Given the description of an element on the screen output the (x, y) to click on. 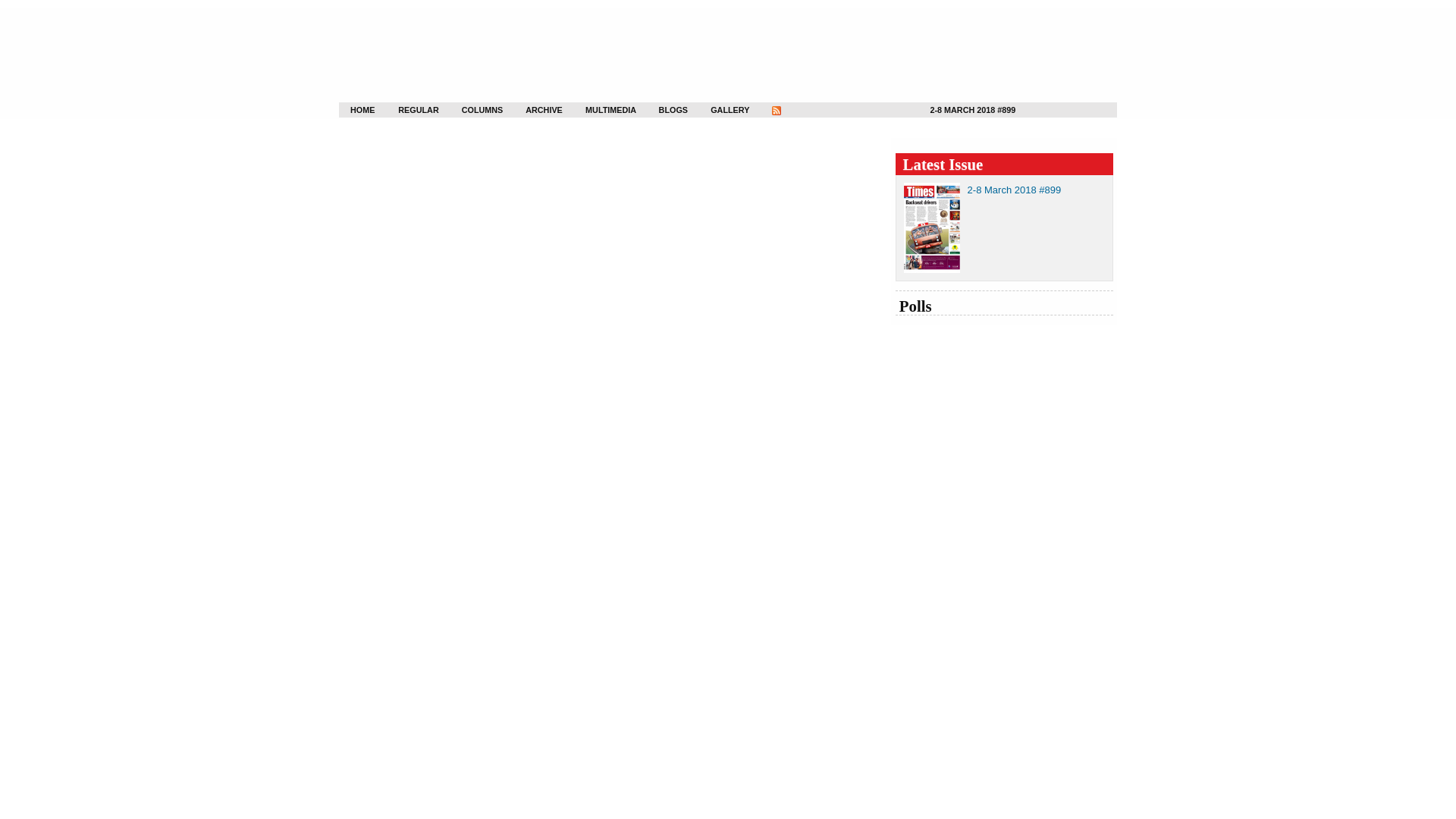
Issue: 2-8 March 2018 (1014, 189)
REGULAR (408, 110)
Nepali Times (439, 51)
MULTIMEDIA (597, 110)
GALLERY (720, 110)
COLUMNS (471, 110)
HOME (356, 109)
Nepali Times (439, 51)
BLOGS (665, 110)
ARCHIVE (534, 110)
